Given the description of an element on the screen output the (x, y) to click on. 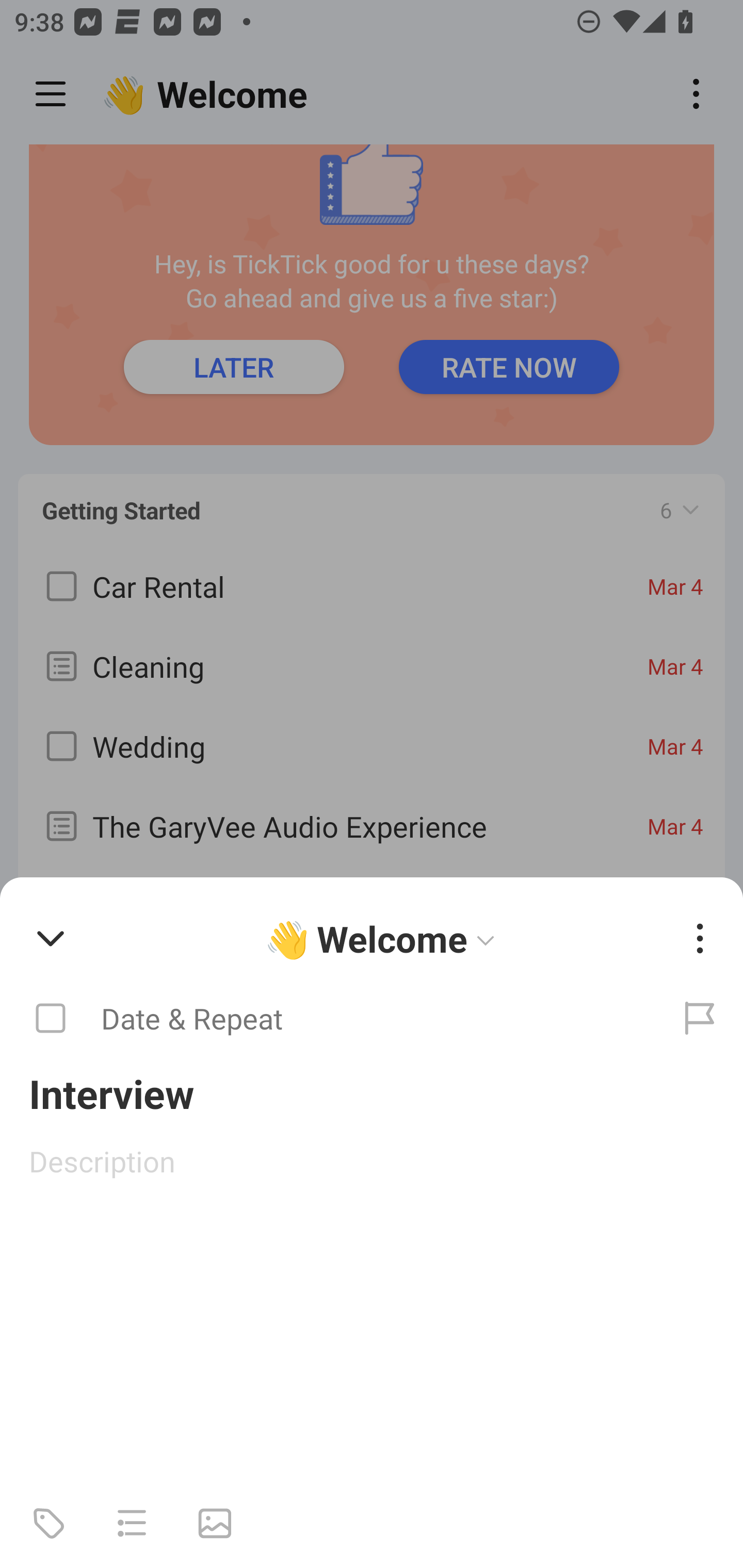
👋 Welcome (384, 938)
Date & Repeat (328, 1019)
Interview (371, 1092)
Description (371, 1160)
